Given the description of an element on the screen output the (x, y) to click on. 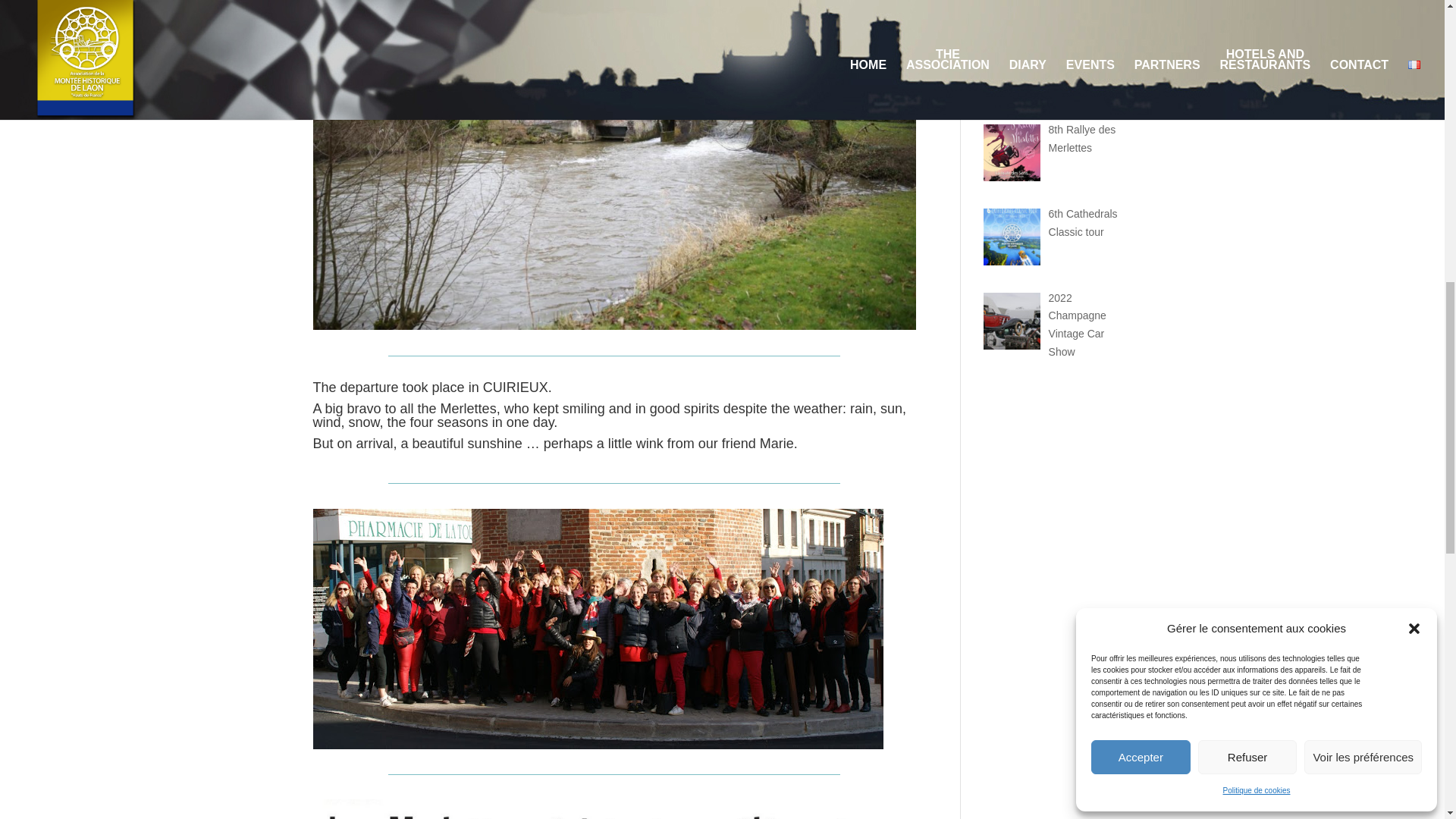
6-Rallye-Merlettes-3 (614, 809)
31st Circuit historique de Laon (1078, 63)
